Given the description of an element on the screen output the (x, y) to click on. 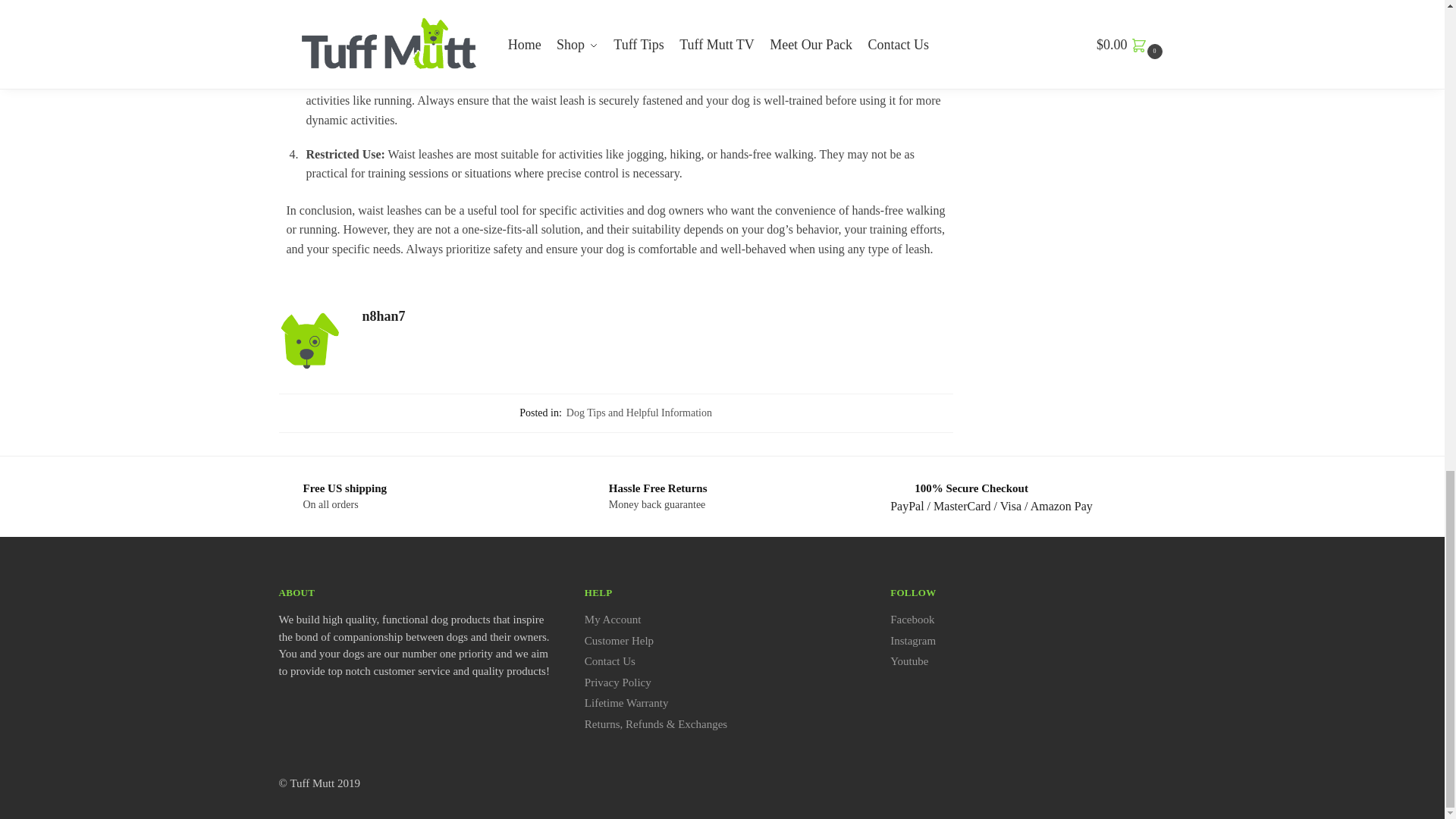
Youtube (908, 661)
Facebook (911, 619)
n8han7 (657, 316)
Contact Us (609, 661)
My Account (613, 619)
Dog Tips and Helpful Information (638, 412)
Customer Help (619, 640)
Privacy Policy (617, 682)
Instagram (912, 640)
Lifetime Warranty (626, 702)
